Given the description of an element on the screen output the (x, y) to click on. 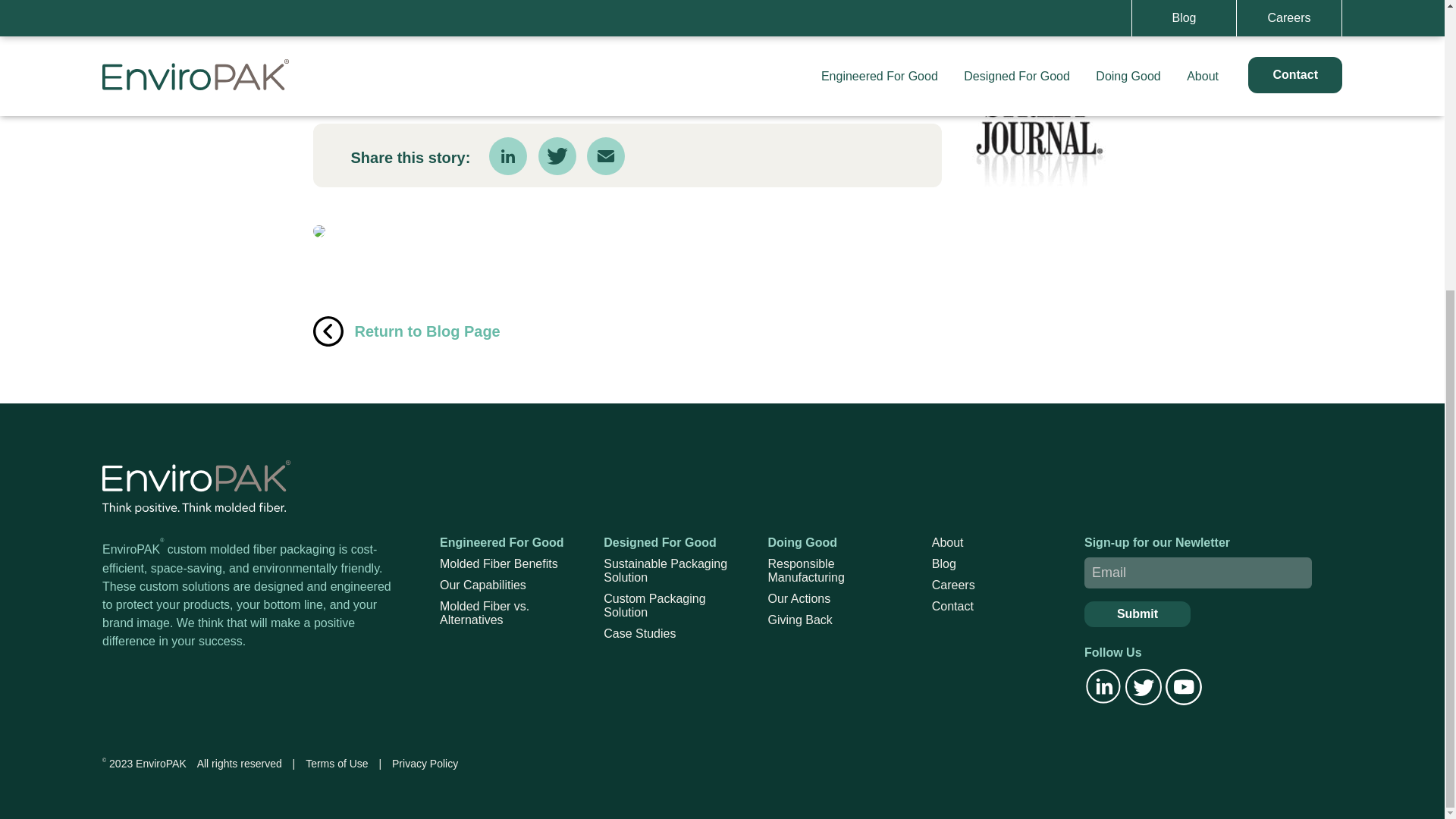
Submit (1137, 614)
